Given the description of an element on the screen output the (x, y) to click on. 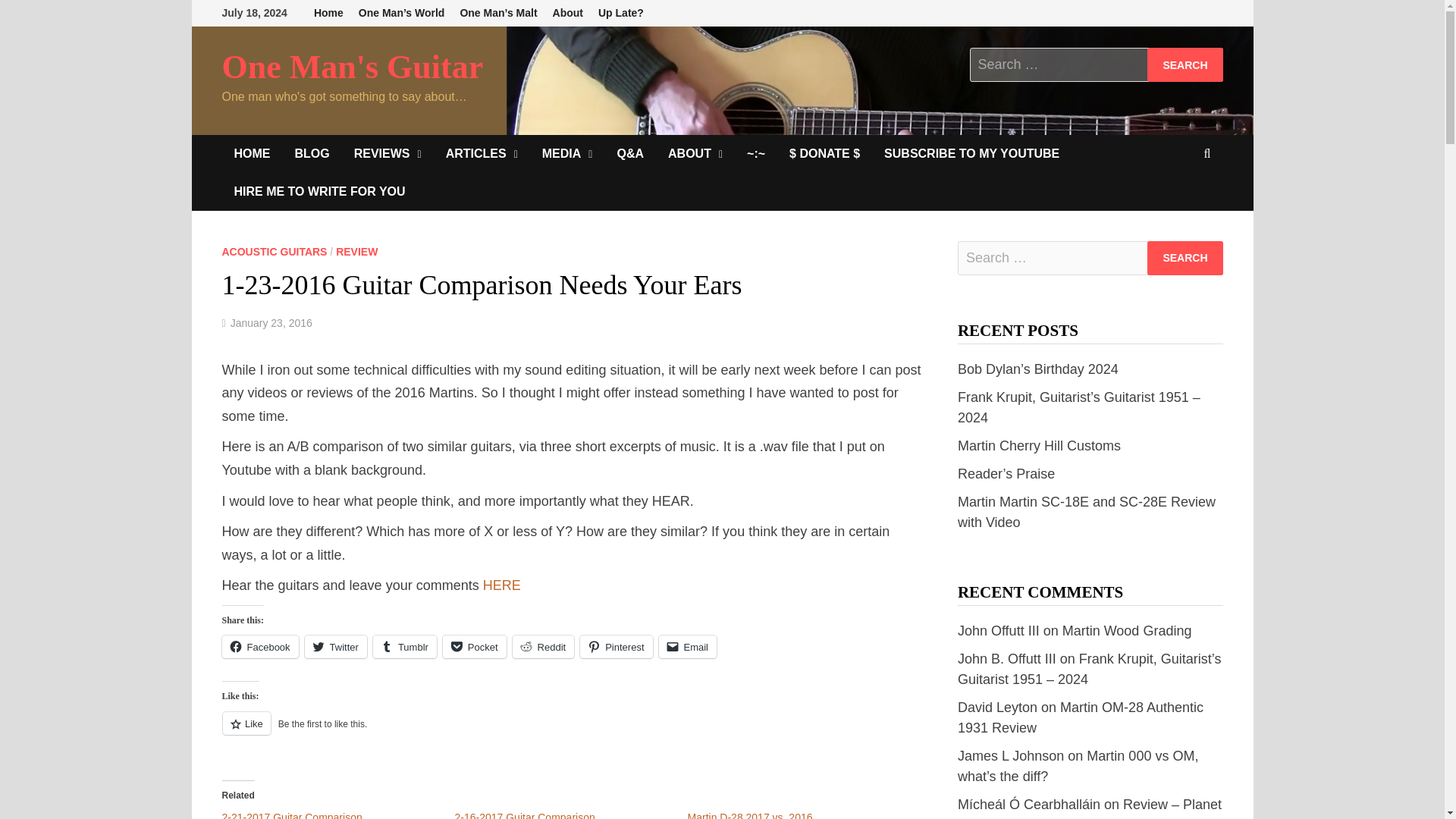
REVIEWS (387, 153)
Search (1185, 257)
One Man's Guitar (352, 66)
Search (1185, 64)
Up Late? (620, 13)
BLOG (311, 153)
Home Page (251, 153)
Search (1185, 257)
HOME (251, 153)
Home (327, 13)
About (567, 13)
The Word on Guitars (311, 153)
Search (1185, 64)
Search (1185, 64)
